Given the description of an element on the screen output the (x, y) to click on. 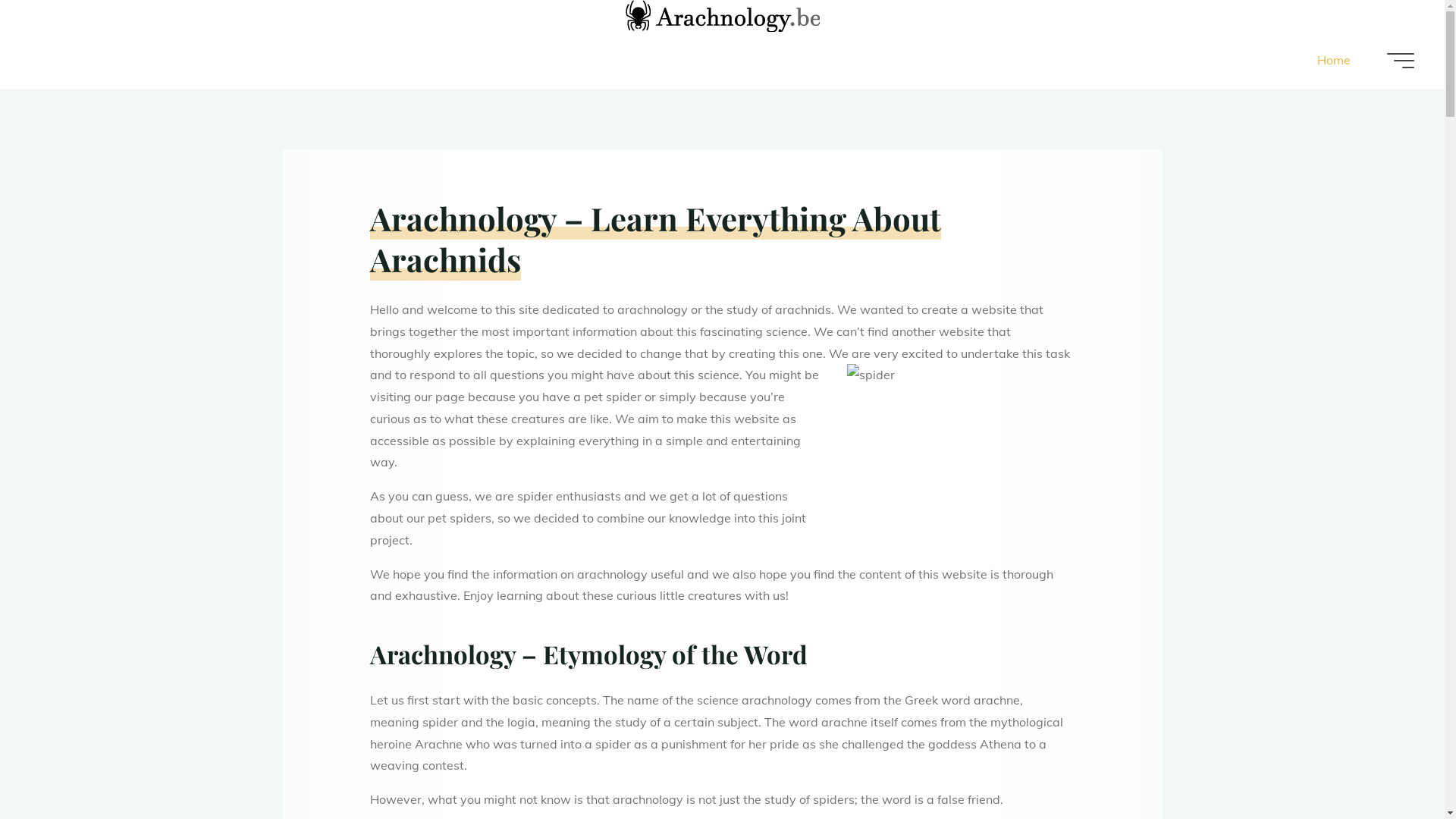
Home Element type: text (1333, 59)
